Given the description of an element on the screen output the (x, y) to click on. 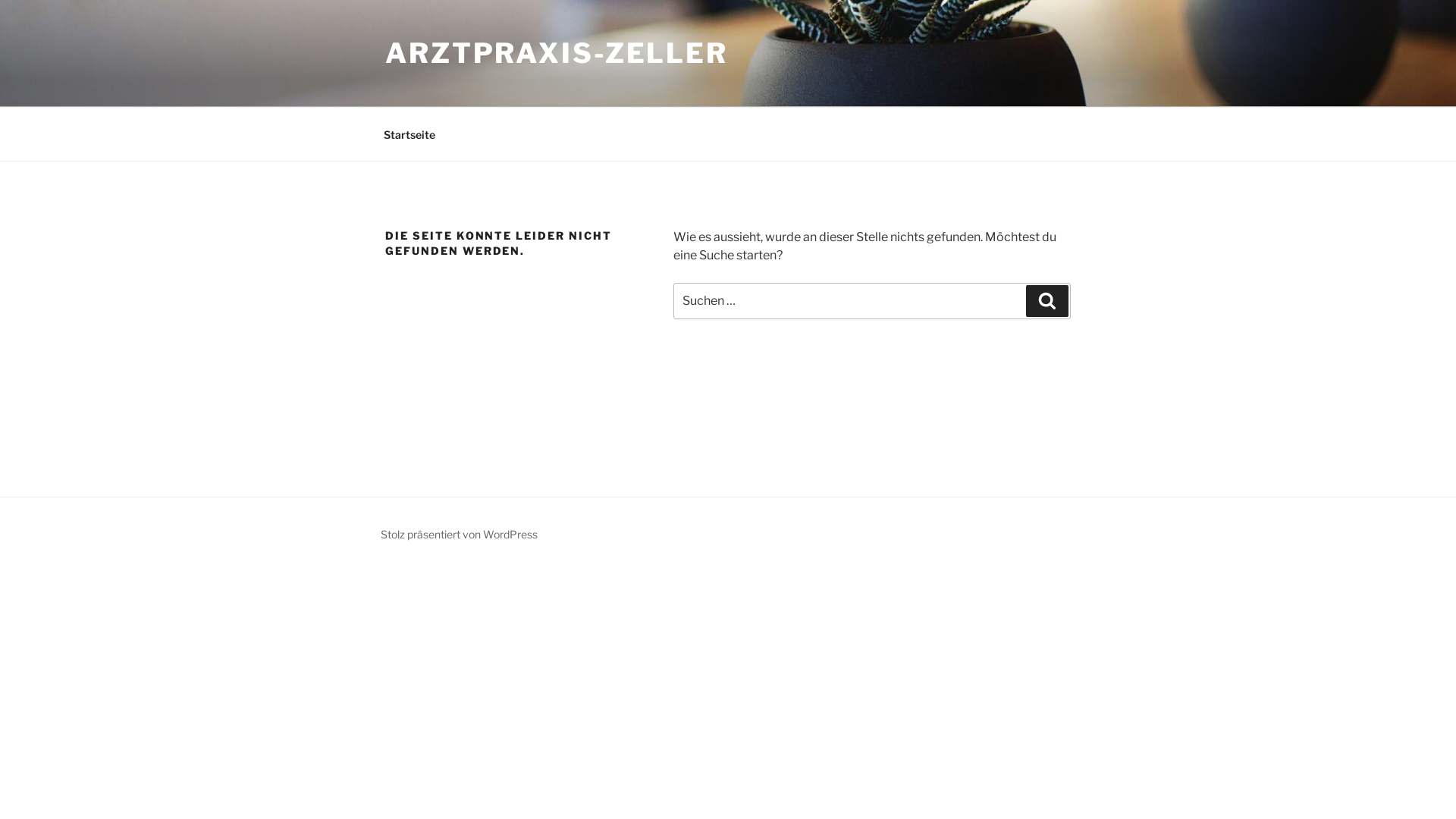
Suchen Element type: text (1047, 300)
Startseite Element type: text (409, 133)
ARZTPRAXIS-ZELLER Element type: text (556, 52)
